Given the description of an element on the screen output the (x, y) to click on. 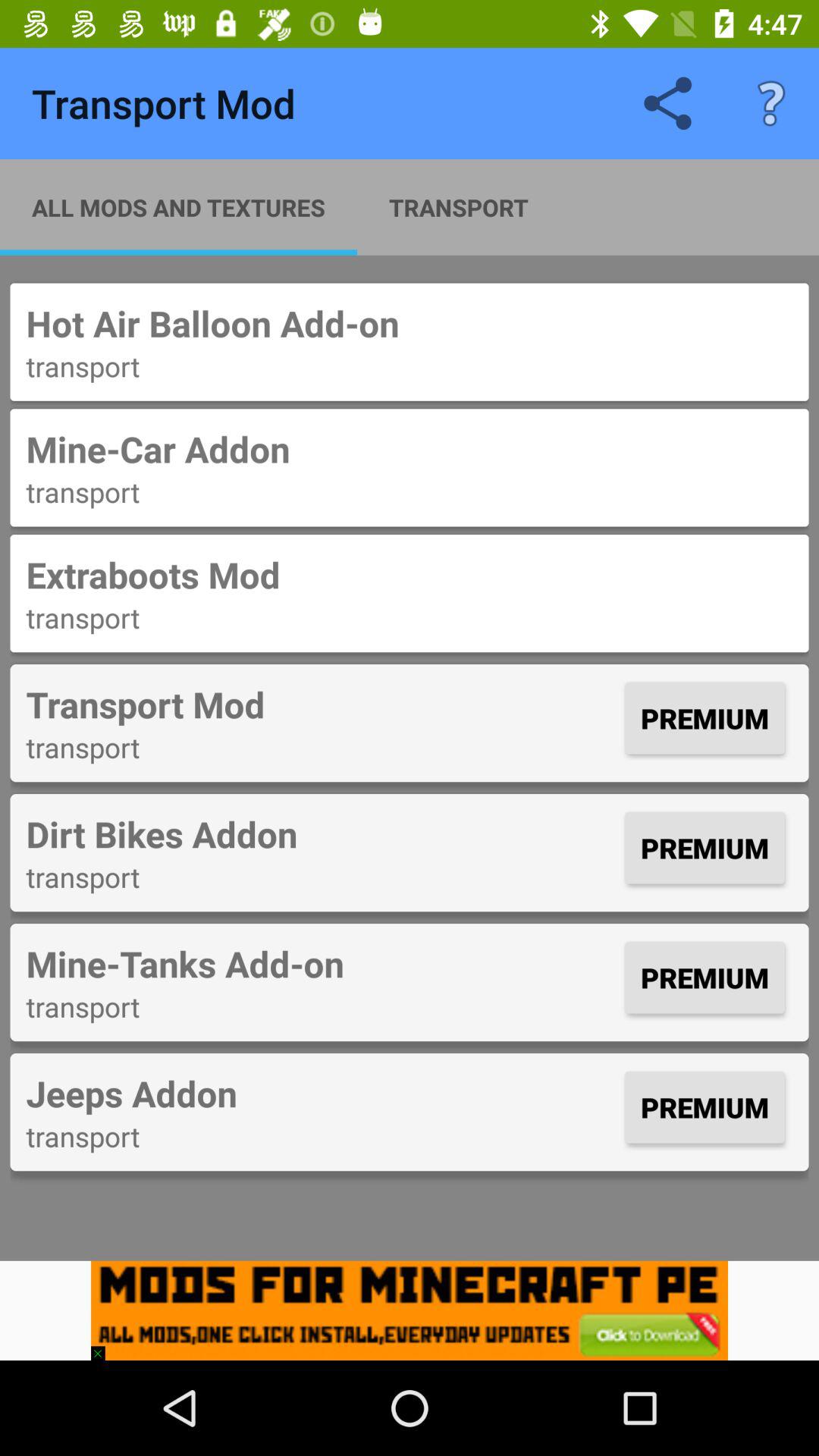
turn on icon above the transport item (321, 1093)
